Given the description of an element on the screen output the (x, y) to click on. 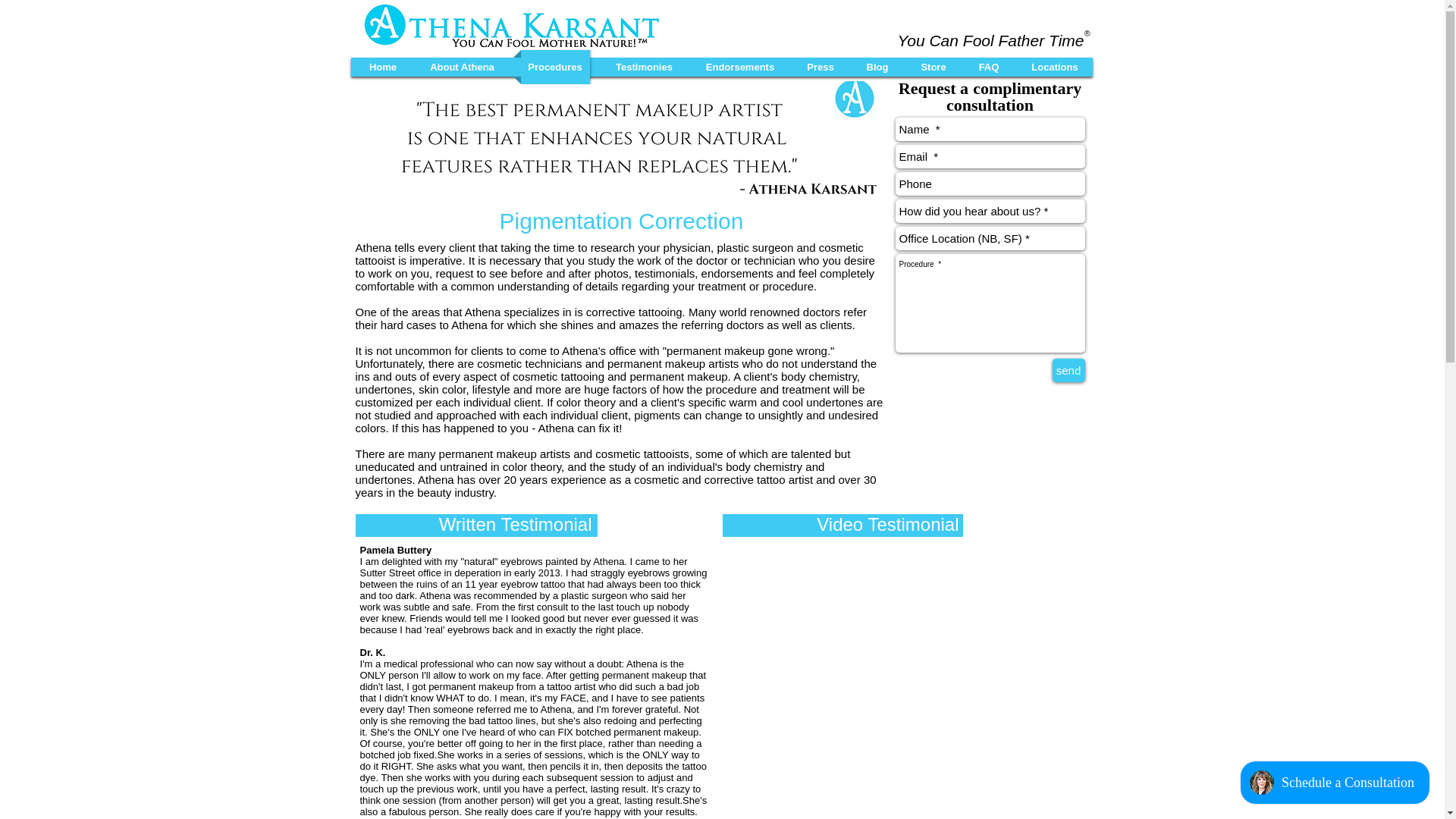
Blog (876, 66)
Locations (1055, 66)
Athena Karsant Logo (509, 25)
Testimonies (643, 66)
FAQ (988, 66)
Written Testimonial (515, 524)
Procedures (554, 66)
Store (933, 66)
Endorsements (740, 66)
Home (383, 66)
Video Testimonial (887, 524)
External YouTube (905, 679)
send (1068, 370)
Press (820, 66)
About Athena (461, 66)
